Given the description of an element on the screen output the (x, y) to click on. 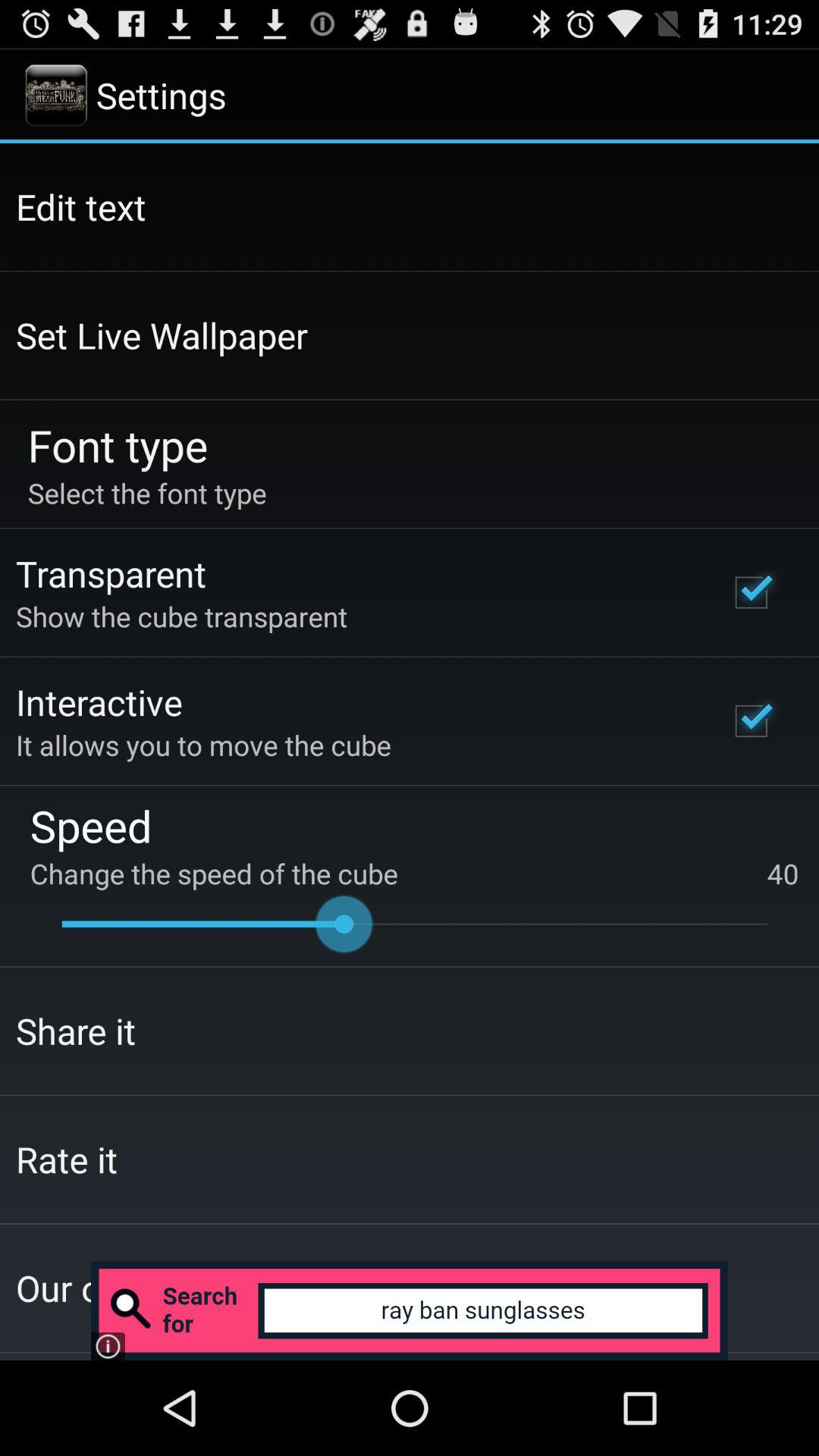
open the icon below the font type app (146, 492)
